Given the description of an element on the screen output the (x, y) to click on. 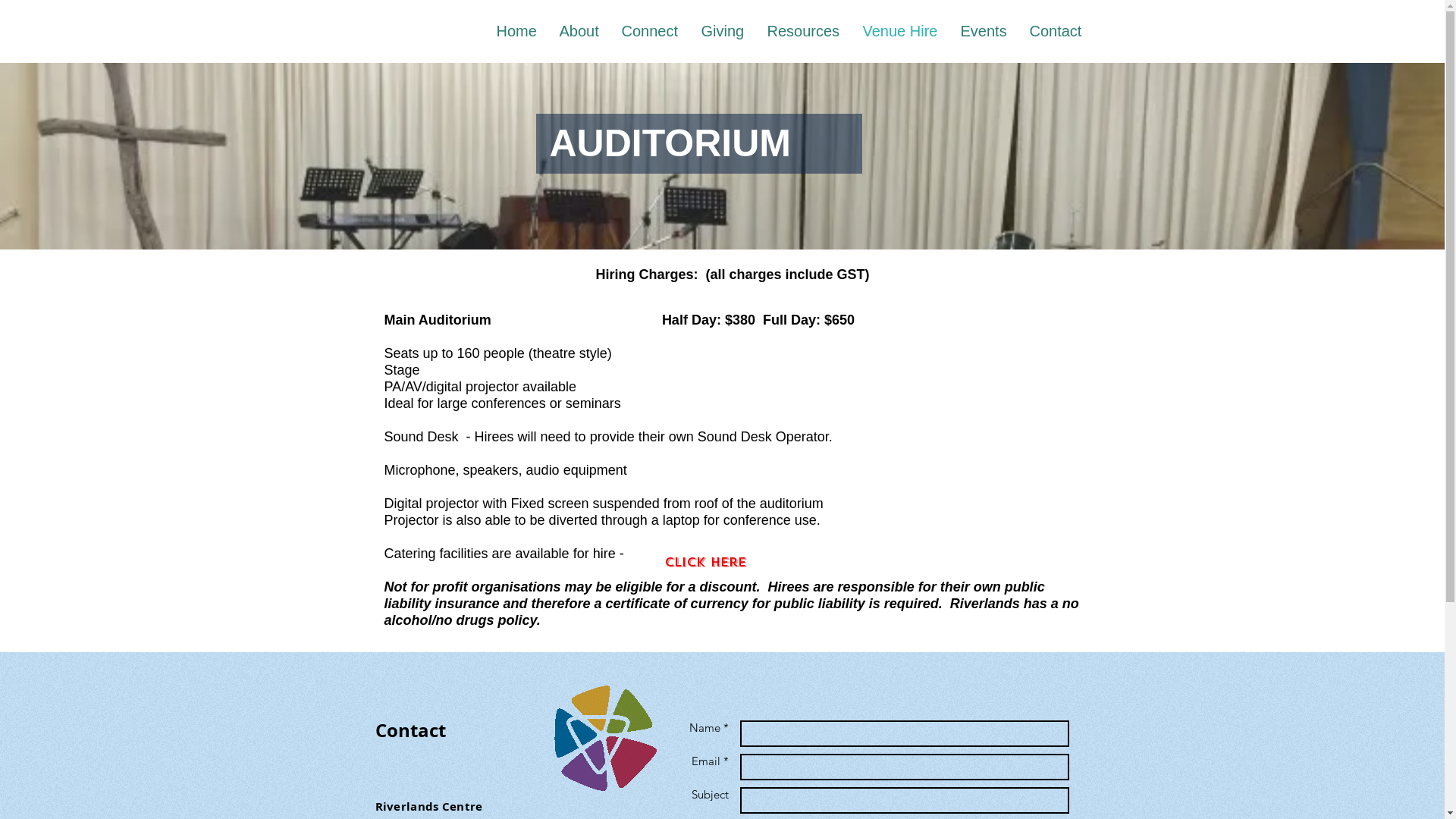
About Element type: text (578, 30)
Venue Hire Element type: text (899, 30)
Contact Element type: text (1054, 30)
Events Element type: text (983, 30)
Connect Element type: text (649, 30)
Home Element type: text (516, 30)
Click Here Element type: text (704, 562)
Resources Element type: text (802, 30)
Giving Element type: text (723, 30)
